Given the description of an element on the screen output the (x, y) to click on. 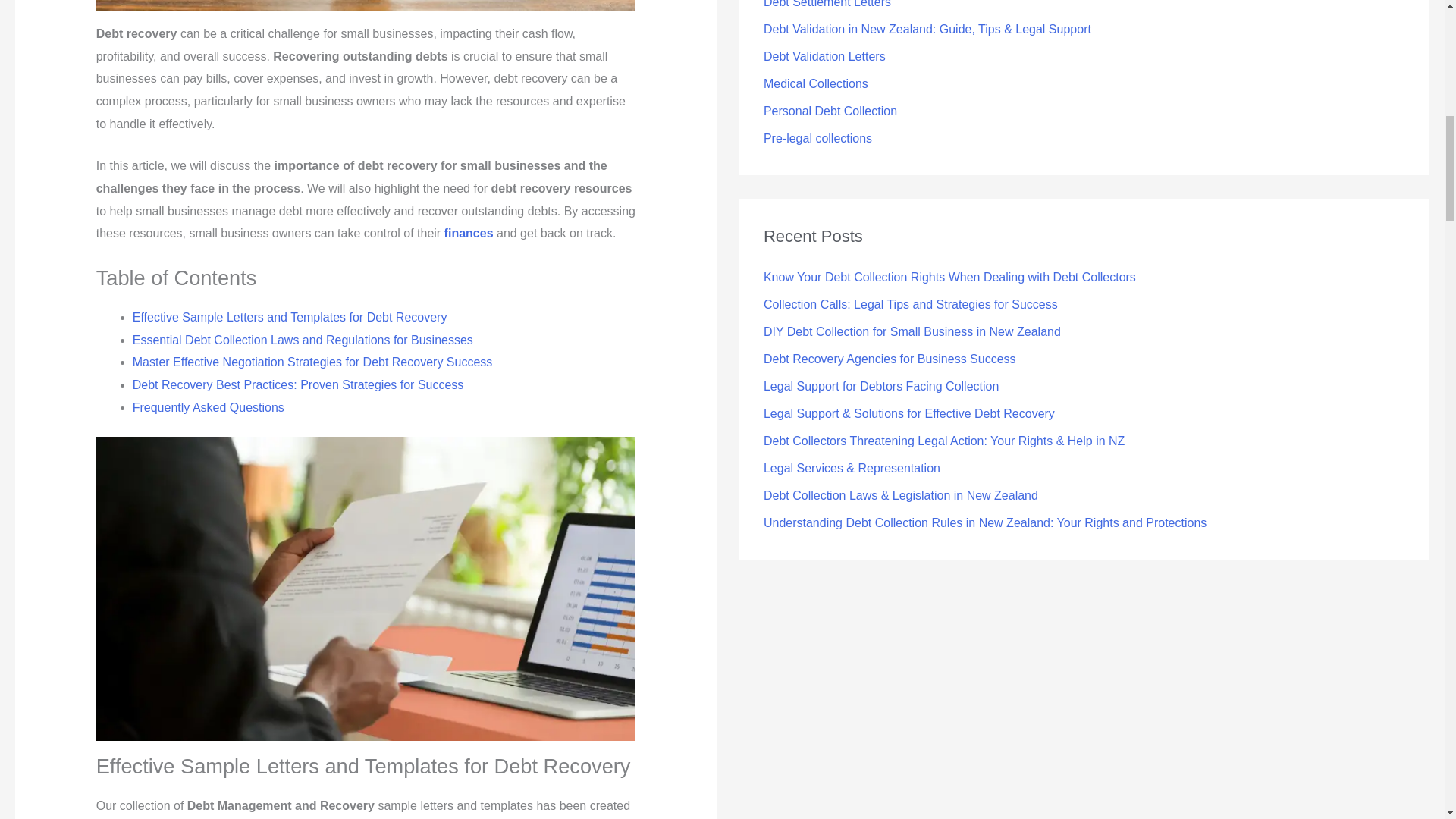
Frequently Asked Questions (207, 407)
Effective Sample Letters and Templates for Debt Recovery (289, 317)
finances (468, 232)
Debt Recovery Best Practices: Proven Strategies for Success (298, 384)
